Given the description of an element on the screen output the (x, y) to click on. 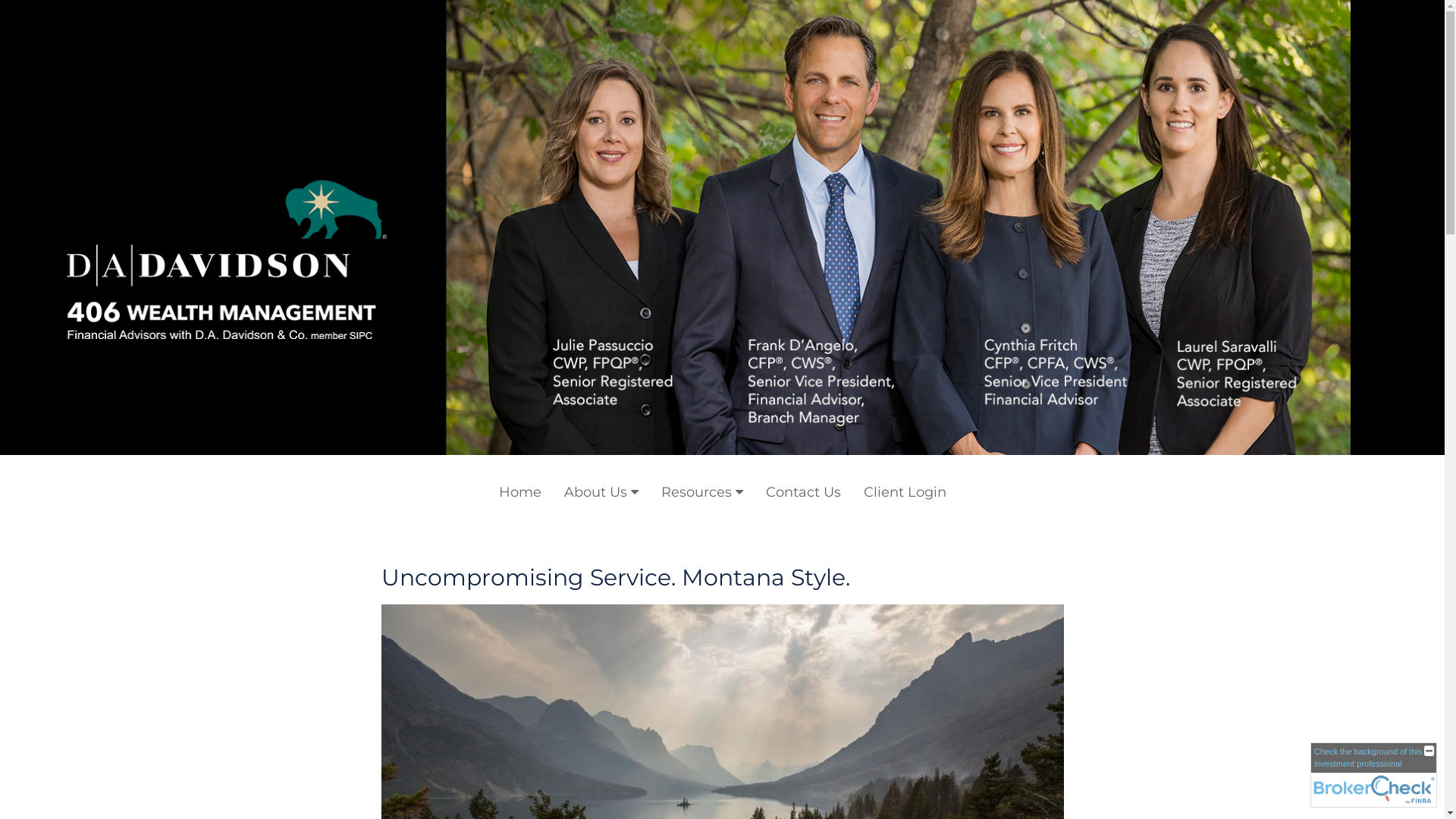
Check the background of this investment professional Element type: text (1367, 756)
About Us Element type: text (600, 491)
Client Login Element type: text (904, 491)
Check the background of this investment professional Element type: text (1373, 774)
Home Element type: text (519, 491)
Contact Us Element type: text (802, 491)
Resources Element type: text (701, 491)
